Given the description of an element on the screen output the (x, y) to click on. 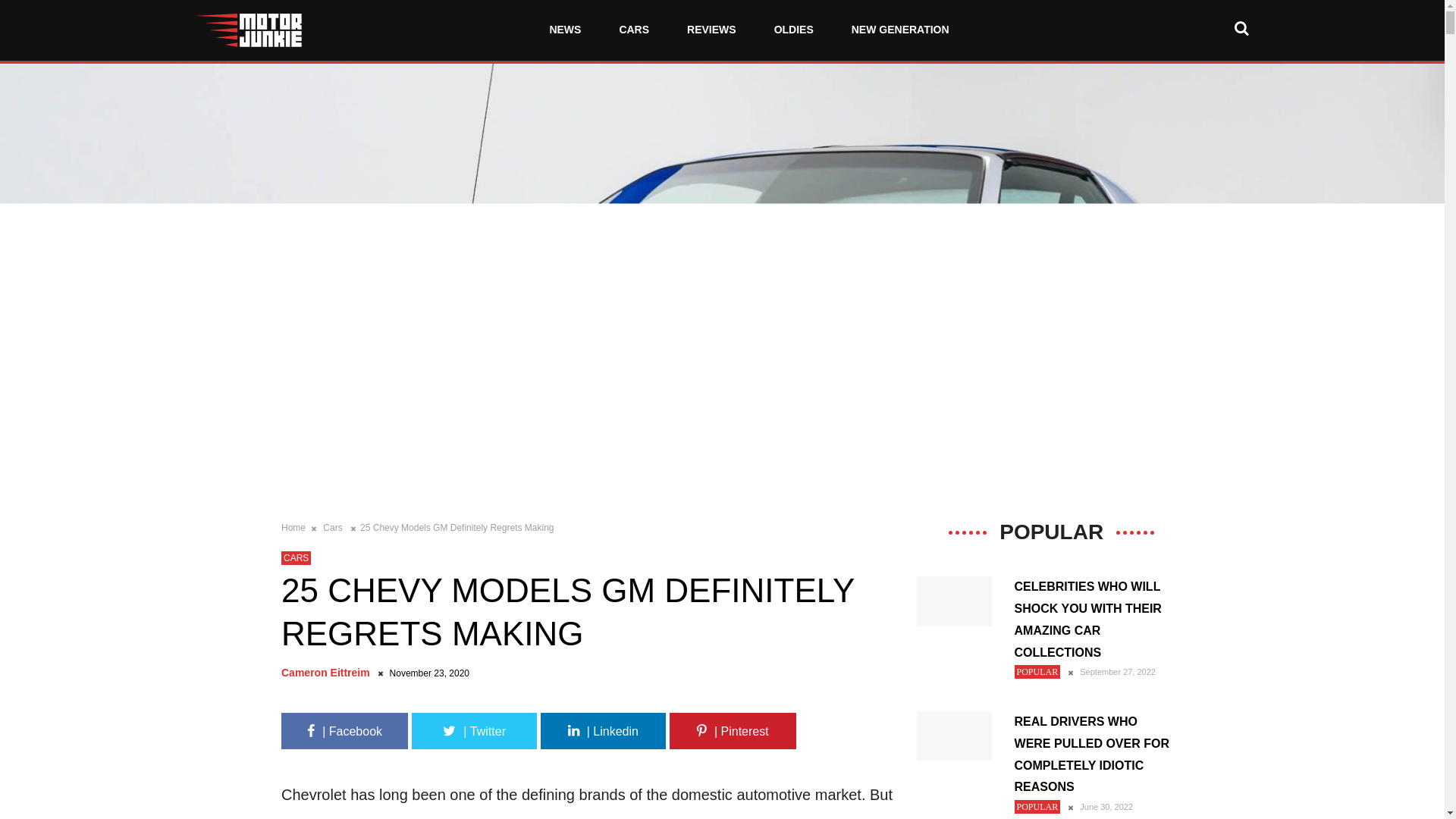
NEW GENERATION (899, 29)
CARS (296, 558)
Cameron Eittreim (328, 672)
Home (294, 527)
CARS (633, 29)
OLDIES (793, 29)
NEWS (564, 29)
Cars (334, 527)
REVIEWS (711, 29)
